Given the description of an element on the screen output the (x, y) to click on. 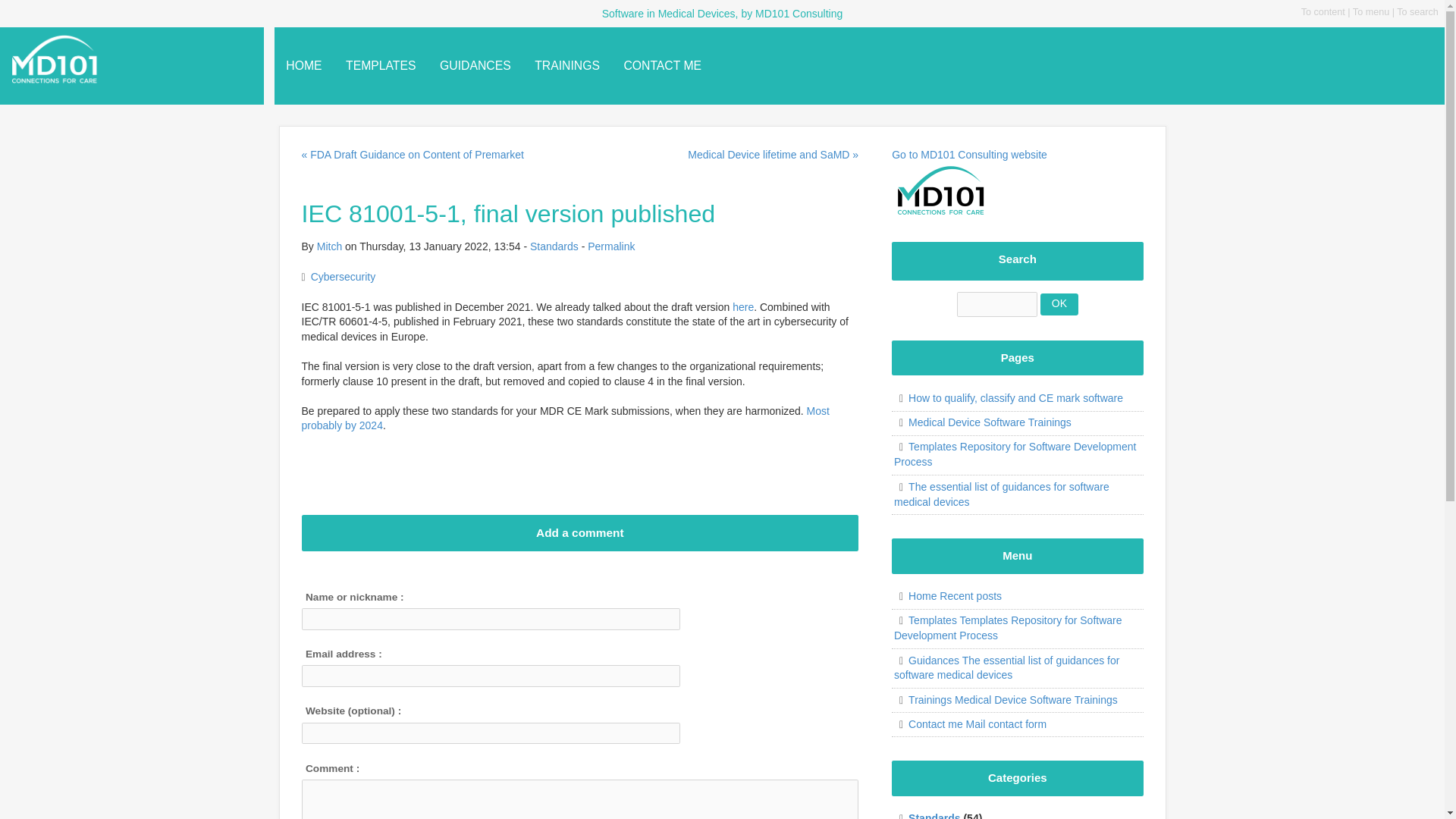
Cybersecurity (343, 276)
Home Recent posts (947, 595)
Medical Device lifetime and SaMD (773, 155)
TRAININGS (566, 65)
Search (1059, 304)
here (743, 306)
Software in Medical Devices, by MD101 Consulting (120, 59)
HOME (304, 65)
The essential list of guidances for software medical devices (1001, 493)
Go to MD101 Consulting website (968, 171)
ok (1059, 304)
Standards (553, 246)
Permalink (611, 246)
